Given the description of an element on the screen output the (x, y) to click on. 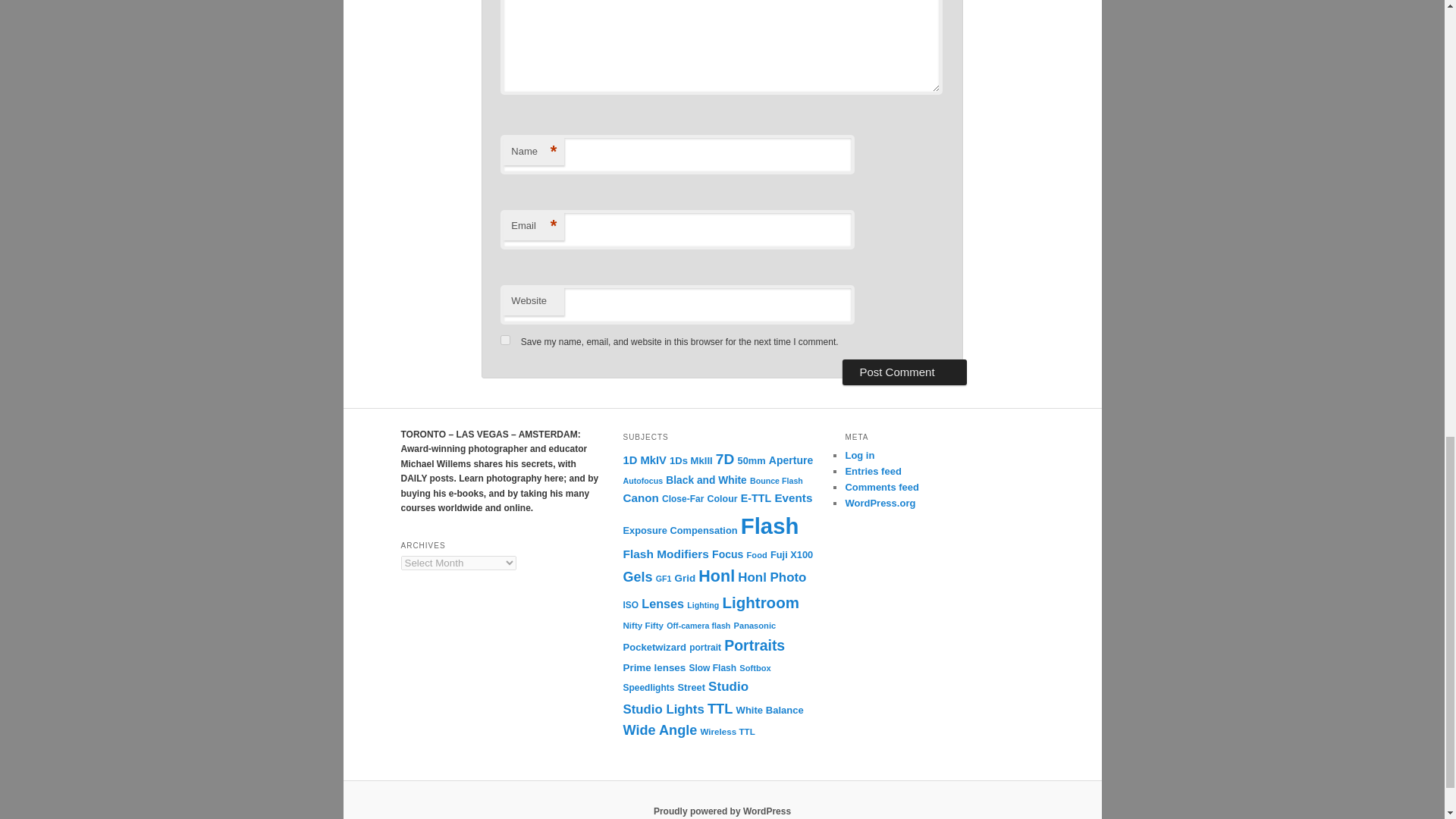
Semantic Personal Publishing Platform (721, 810)
Bounce Flash (776, 480)
1Ds MkIII (691, 460)
Post Comment (904, 371)
7D (725, 458)
Aperture (790, 460)
Black and White (705, 480)
Canon (640, 497)
Autofocus (642, 480)
Post Comment (904, 371)
50mm (751, 460)
yes (505, 339)
1D MkIV (644, 460)
